Given the description of an element on the screen output the (x, y) to click on. 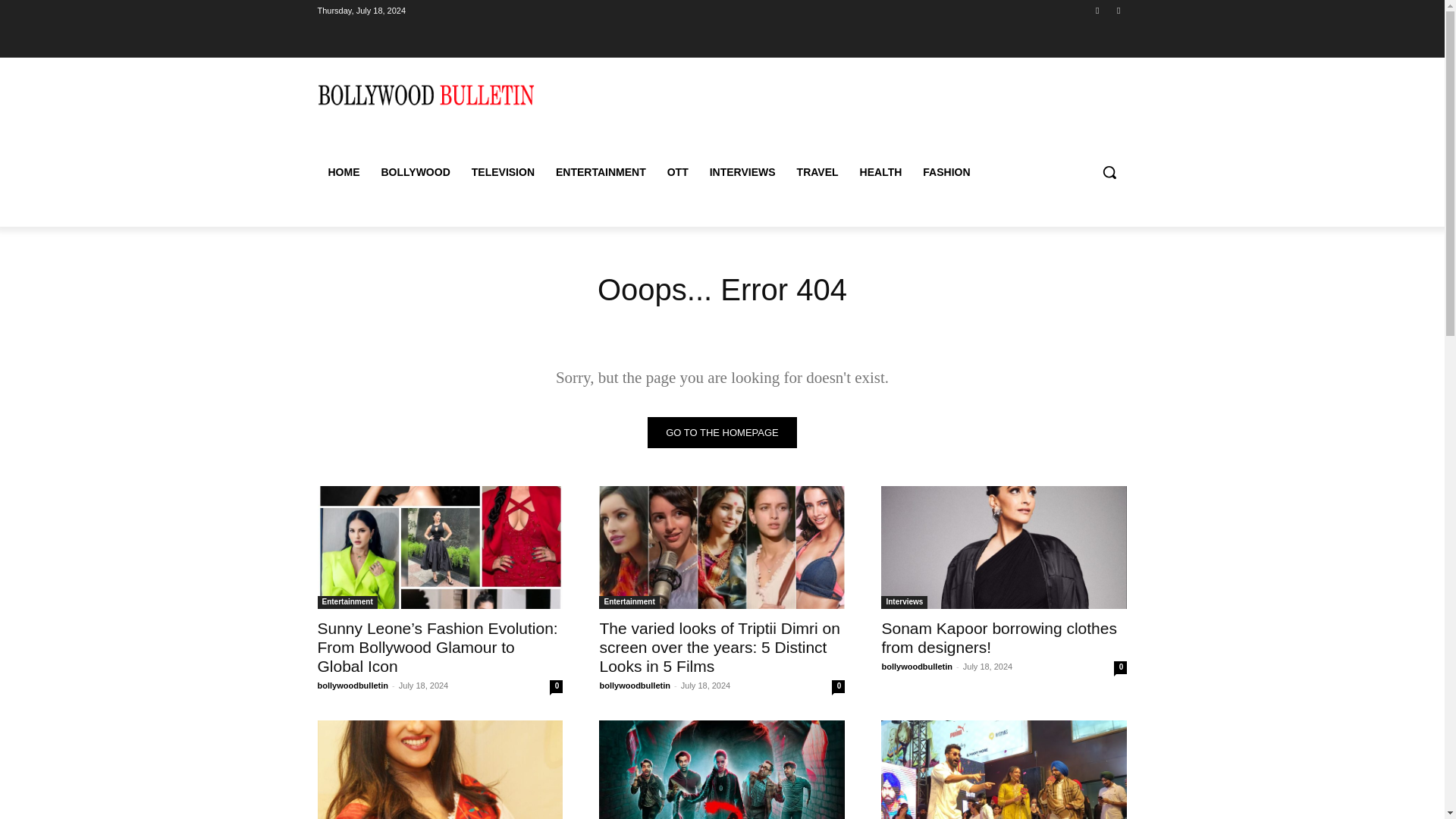
0 (1119, 667)
Sonam Kapoor borrowing clothes from designers! (1003, 547)
BOLLYWOOD (414, 171)
Instagram (1117, 9)
TELEVISION (502, 171)
0 (556, 686)
FASHION (945, 171)
bollywoodbulletin (352, 685)
HOME (343, 171)
0 (837, 686)
bollywoodbulletin (916, 665)
ENTERTAINMENT (600, 171)
Interviews (903, 602)
Facebook (1097, 9)
